Given the description of an element on the screen output the (x, y) to click on. 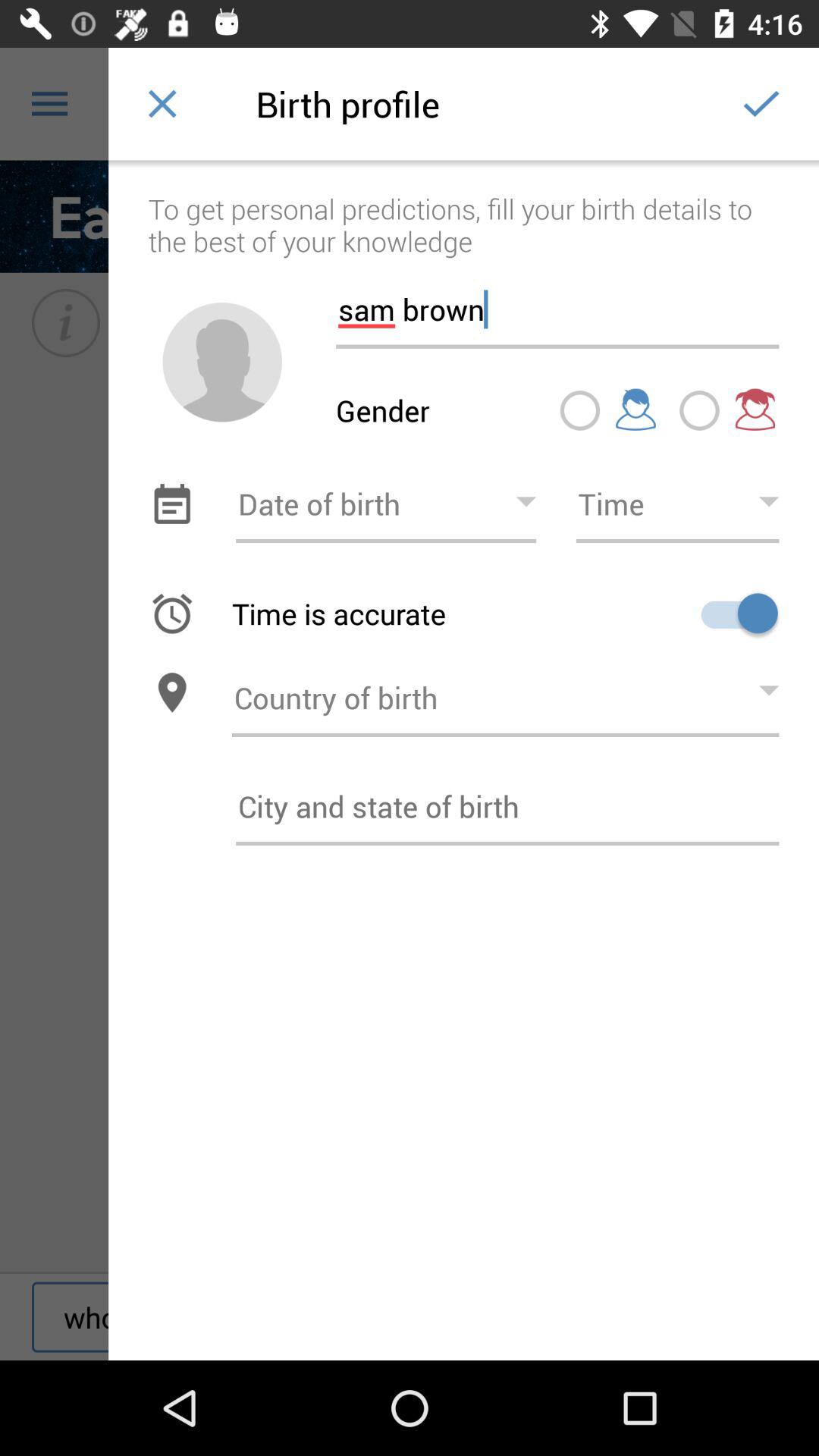
toggle to location toggle to maps (172, 692)
